Given the description of an element on the screen output the (x, y) to click on. 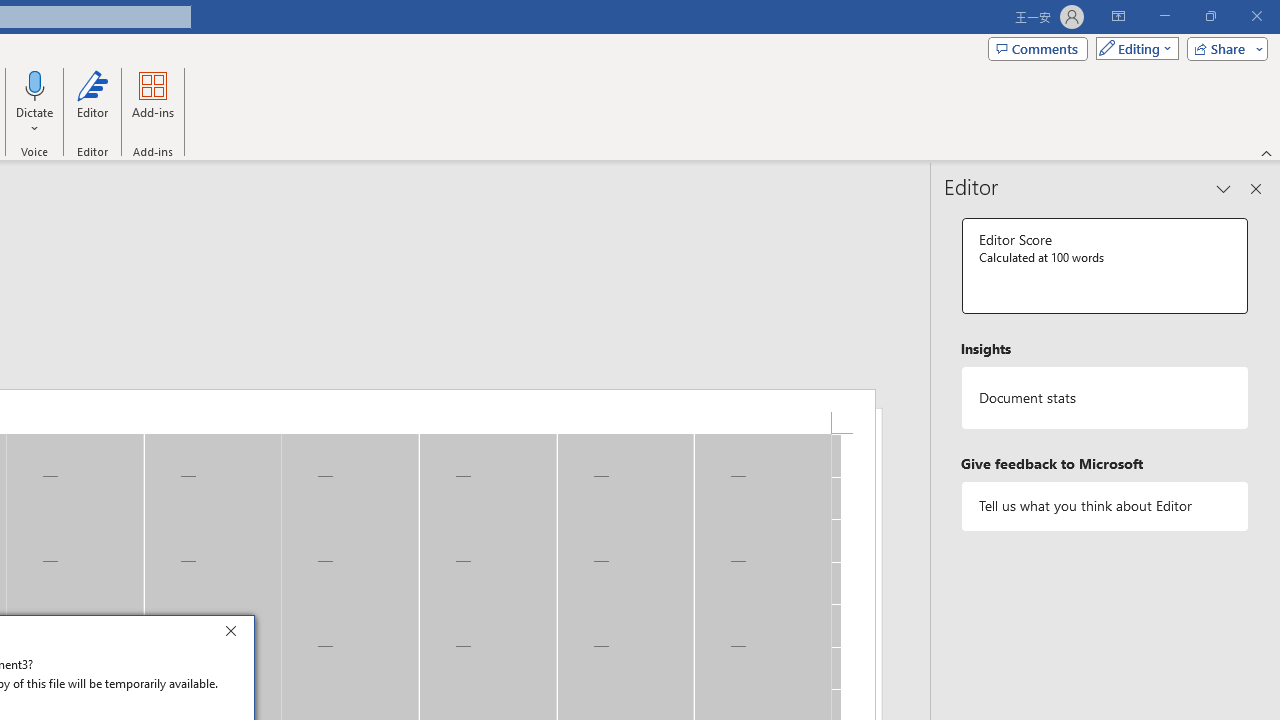
Minimize (1164, 16)
Tell us what you think about Editor (1105, 506)
Collapse the Ribbon (1267, 152)
Close (236, 633)
Restore Down (1210, 16)
More Options (35, 121)
Comments (1038, 48)
Editor (92, 102)
Close pane (1256, 188)
Task Pane Options (1224, 188)
Dictate (35, 102)
Ribbon Display Options (1118, 16)
Share (1223, 48)
